Given the description of an element on the screen output the (x, y) to click on. 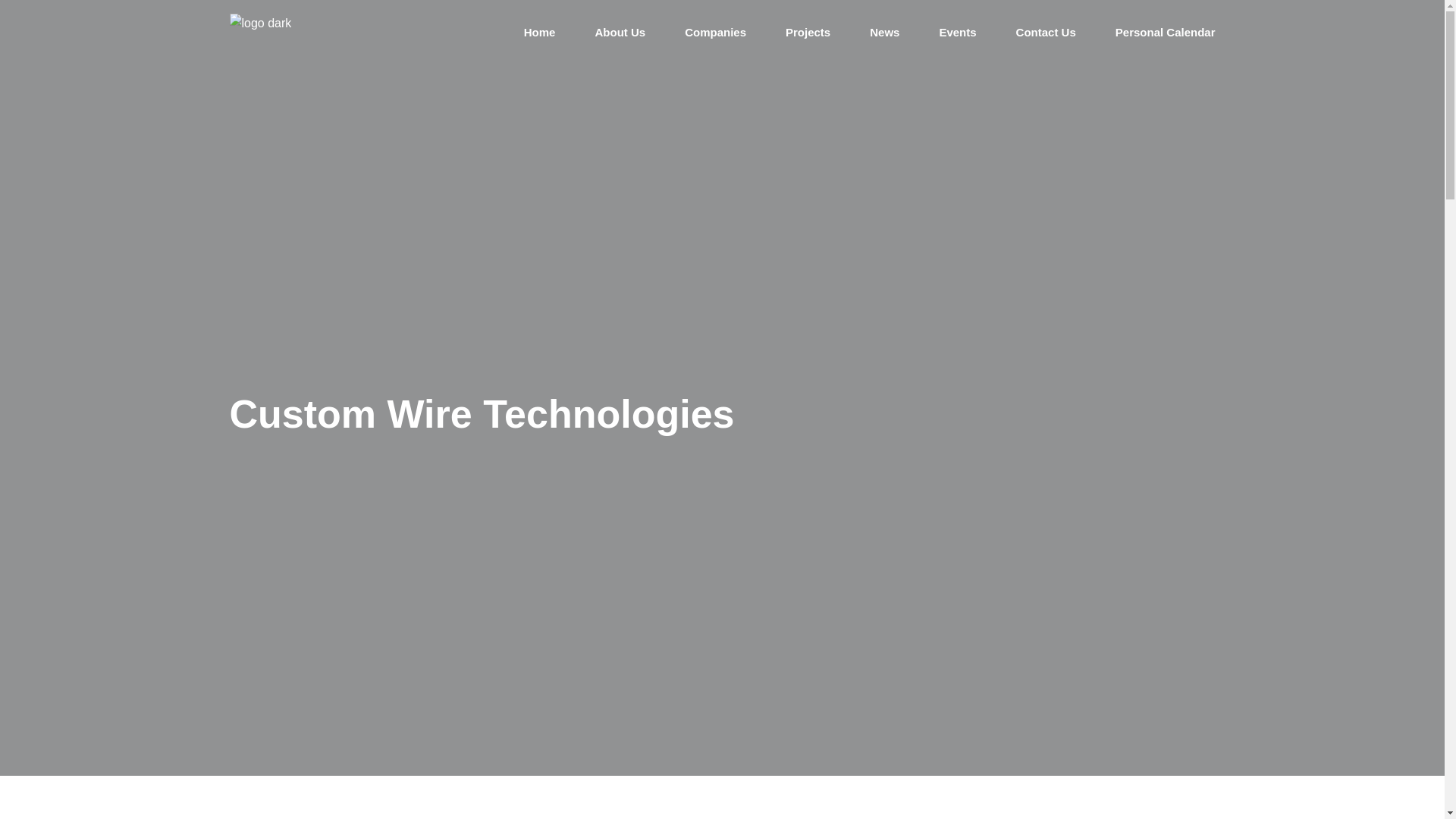
About Us (619, 32)
Contact Us (1045, 32)
Companies (714, 32)
Personal Calendar (1165, 32)
Projects (807, 32)
